Given the description of an element on the screen output the (x, y) to click on. 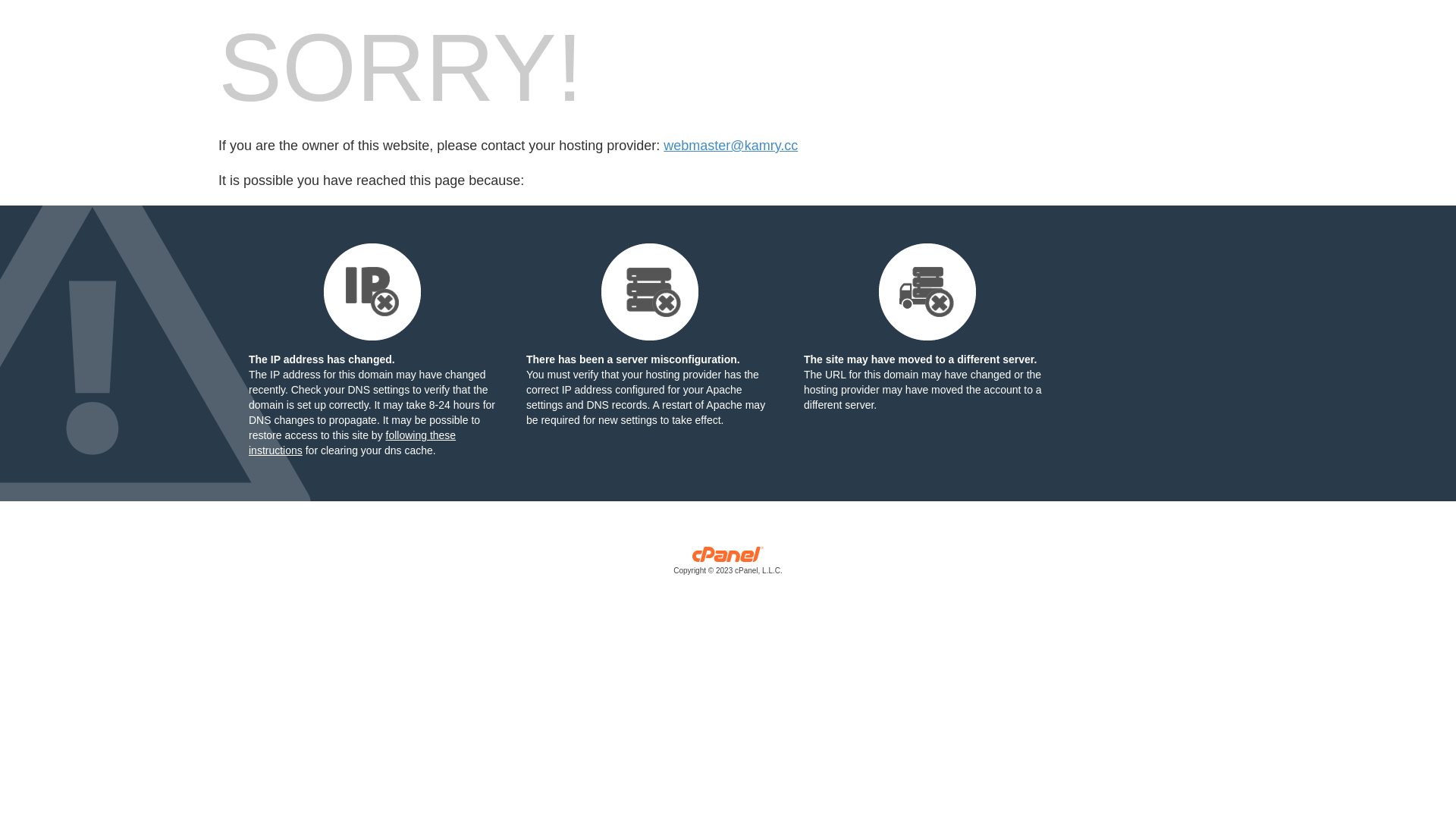
following these instructions Element type: text (351, 442)
webmaster@kamry.cc Element type: text (730, 145)
